Given the description of an element on the screen output the (x, y) to click on. 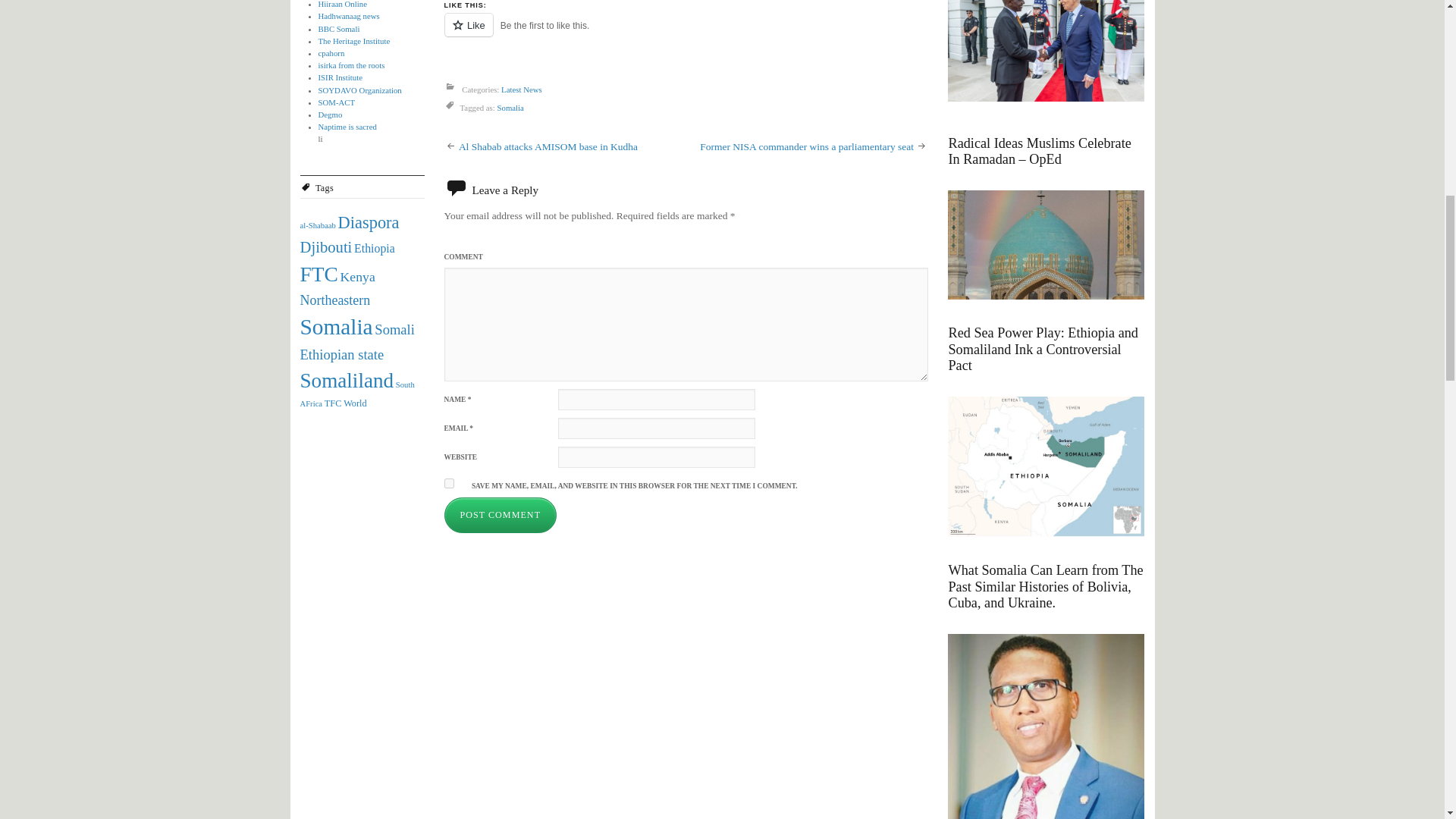
Post Comment (500, 515)
yes (449, 483)
Hadhwanaag news (349, 15)
Hiiraan Online (342, 4)
Djibouti (325, 247)
BBC Somali (338, 28)
Like or Reblog (686, 33)
SOM-ACT (336, 102)
Somali Ethiopian state (356, 341)
The Heritage Institute (354, 40)
